Given the description of an element on the screen output the (x, y) to click on. 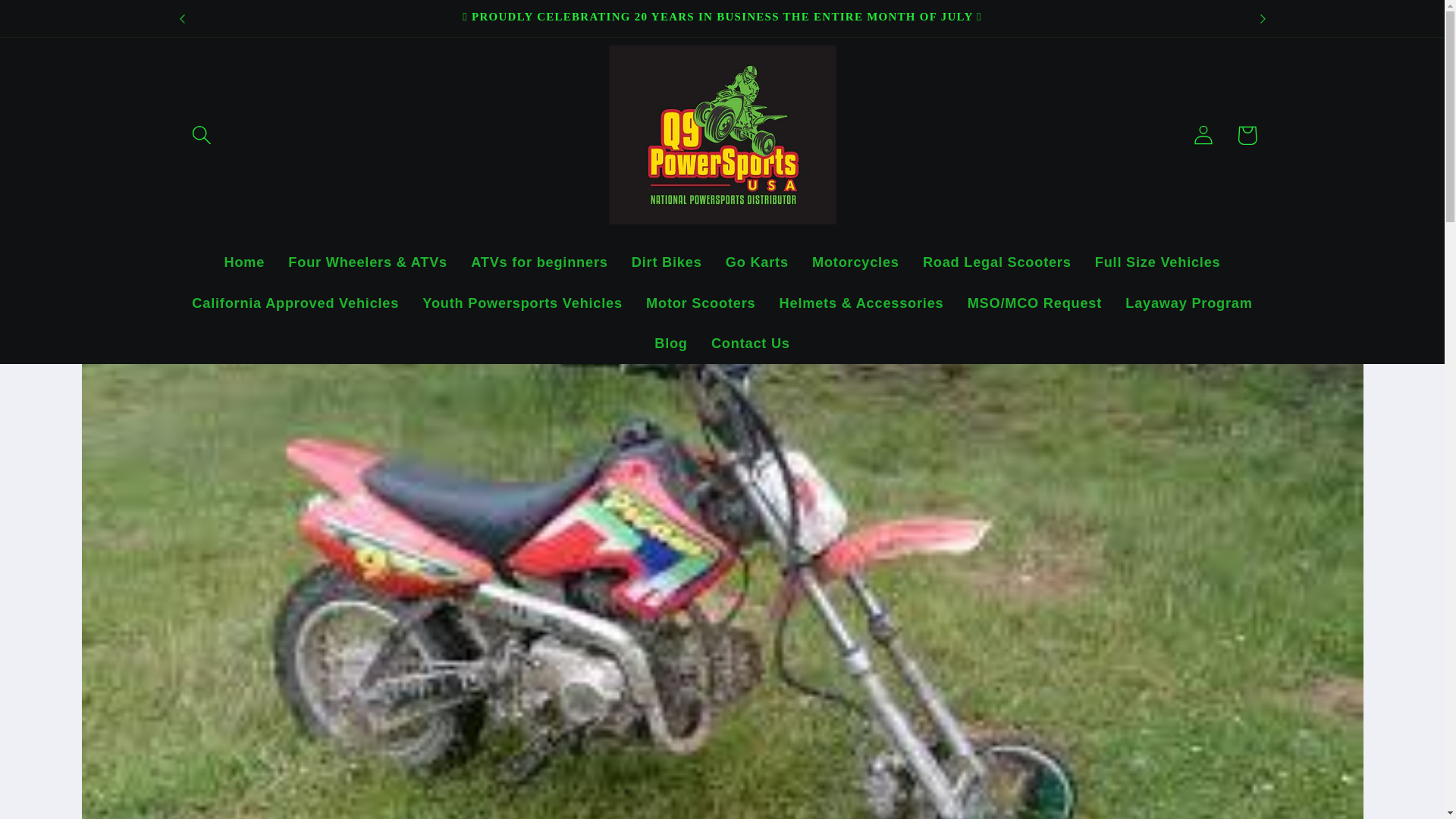
ATVs for beginners (540, 262)
Go Karts (756, 262)
Home (244, 262)
Skip to content (59, 22)
Dirt Bikes (666, 262)
Motorcycles (855, 262)
